Given the description of an element on the screen output the (x, y) to click on. 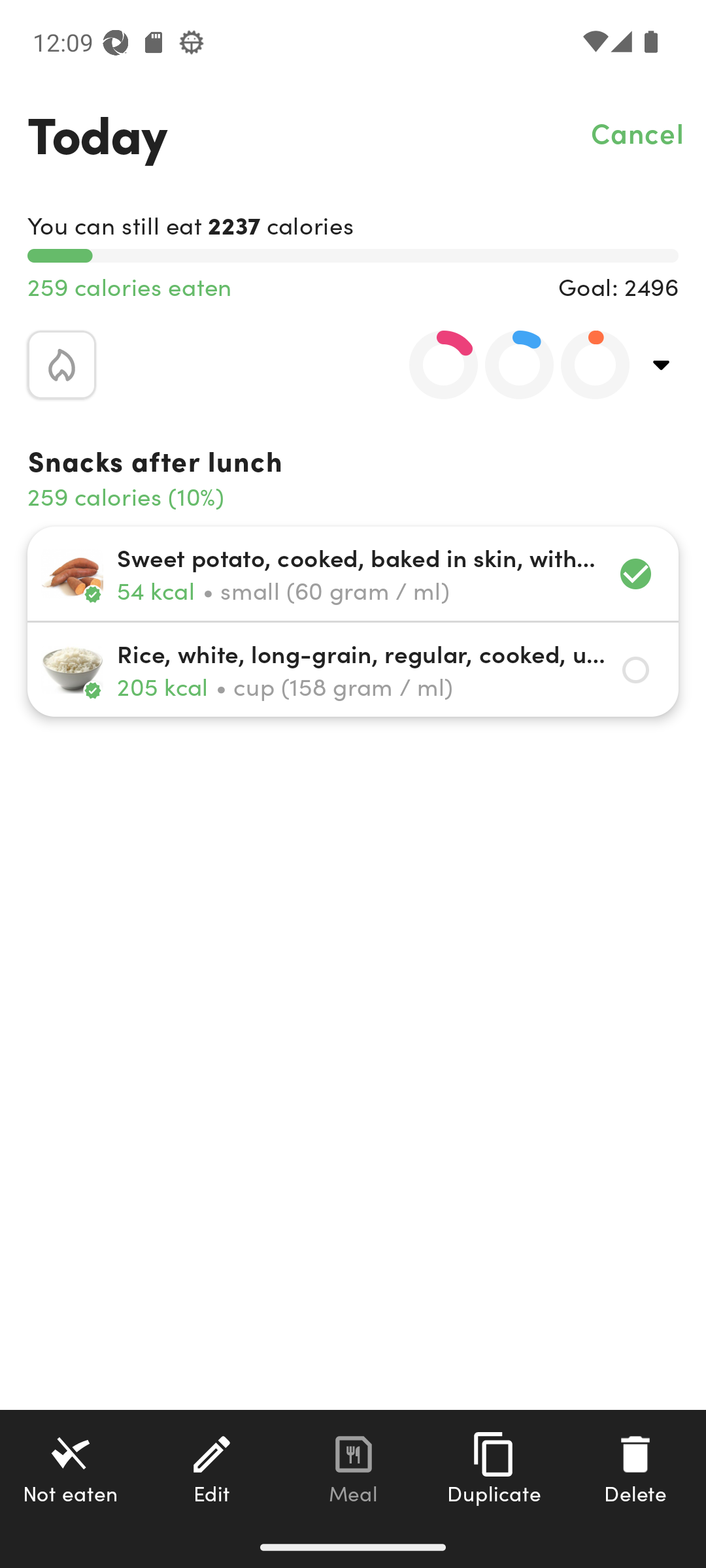
Cancel (637, 132)
calorie_icon (62, 365)
0.15 0.09 0.01 (508, 365)
top_right_action (661, 365)
Not eaten (70, 1468)
Edit (211, 1468)
Meal (352, 1468)
Duplicate (493, 1468)
Delete (635, 1468)
